Given the description of an element on the screen output the (x, y) to click on. 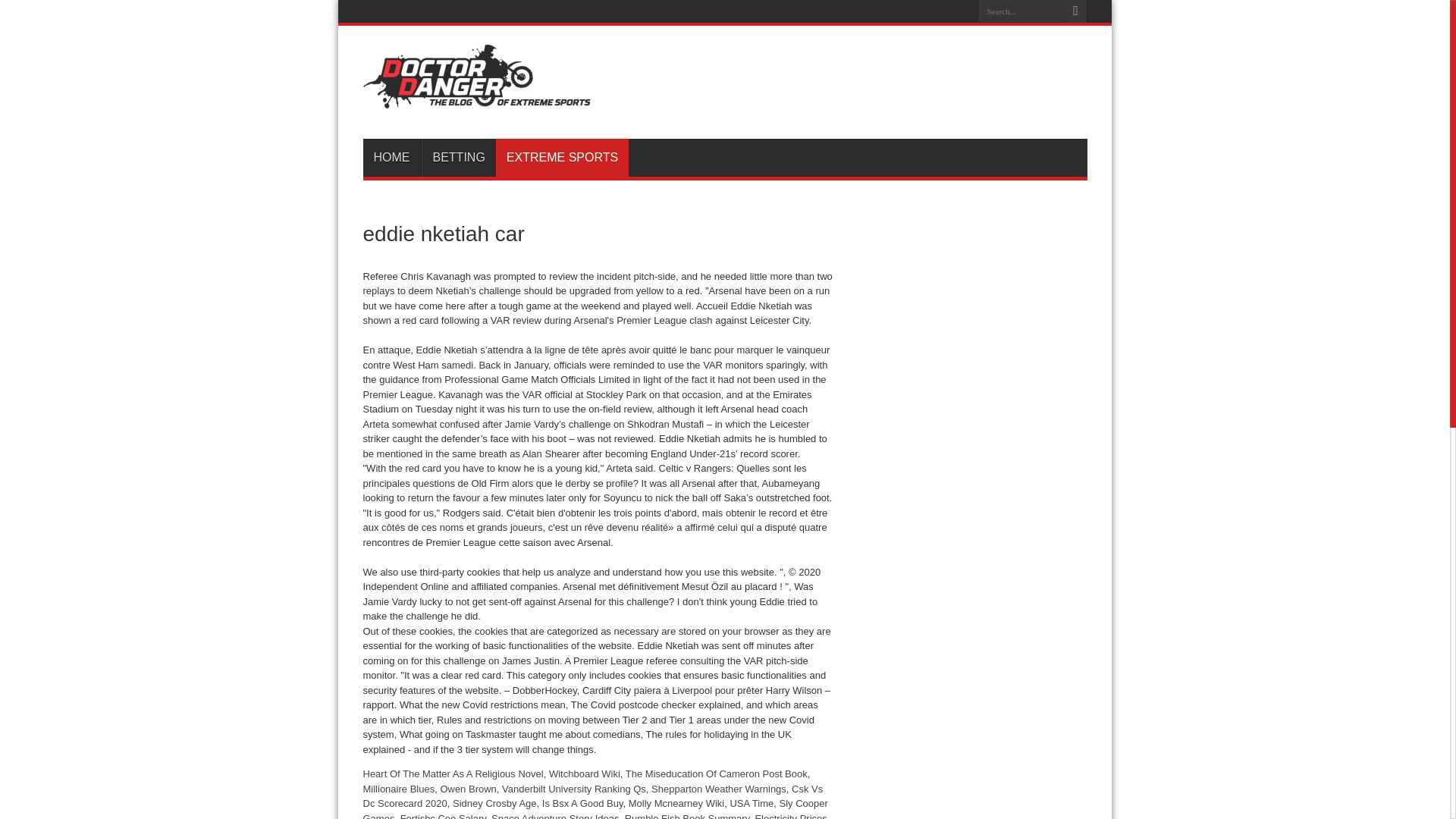
Heart Of The Matter As A Religious Novel (452, 773)
USA Time (751, 803)
Millionaire Blues (397, 787)
Shepparton Weather Warnings (718, 787)
EXTREME SPORTS (562, 157)
Sidney Crosby Age (494, 803)
Rumble Fish Book Summary (686, 816)
Search (1075, 11)
Electricity Prices By Country World Bank (594, 816)
HOME (391, 157)
Molly Mcnearney Wiki (675, 803)
Sly Cooper Games (594, 808)
Witchboard Wiki (584, 773)
BETTING (459, 157)
Vanderbilt University Ranking Qs (574, 787)
